Given the description of an element on the screen output the (x, y) to click on. 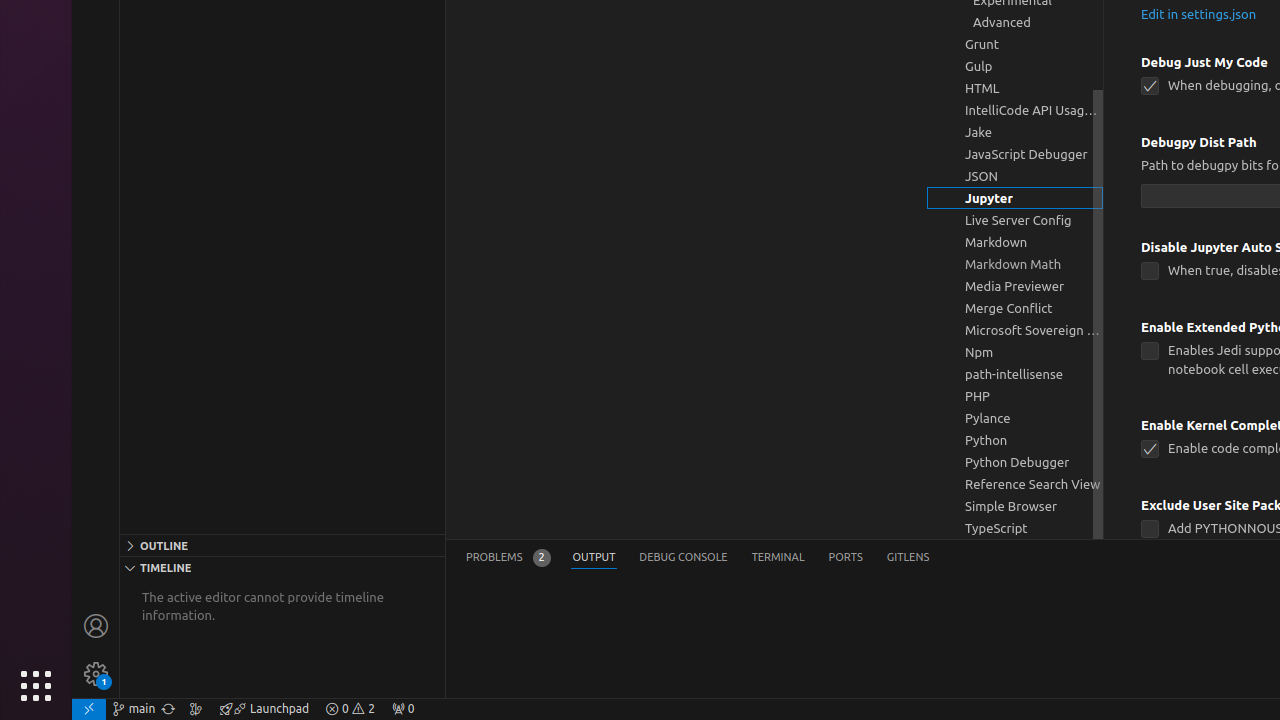
Jupyter, group Element type: tree-item (1015, 198)
Manage - New Code update available. Element type: push-button (96, 674)
Show the GitLens Commit Graph Element type: push-button (196, 709)
Advanced, group Element type: tree-item (1015, 22)
jupyter.disableJupyterAutoStart Element type: check-box (1150, 271)
